Given the description of an element on the screen output the (x, y) to click on. 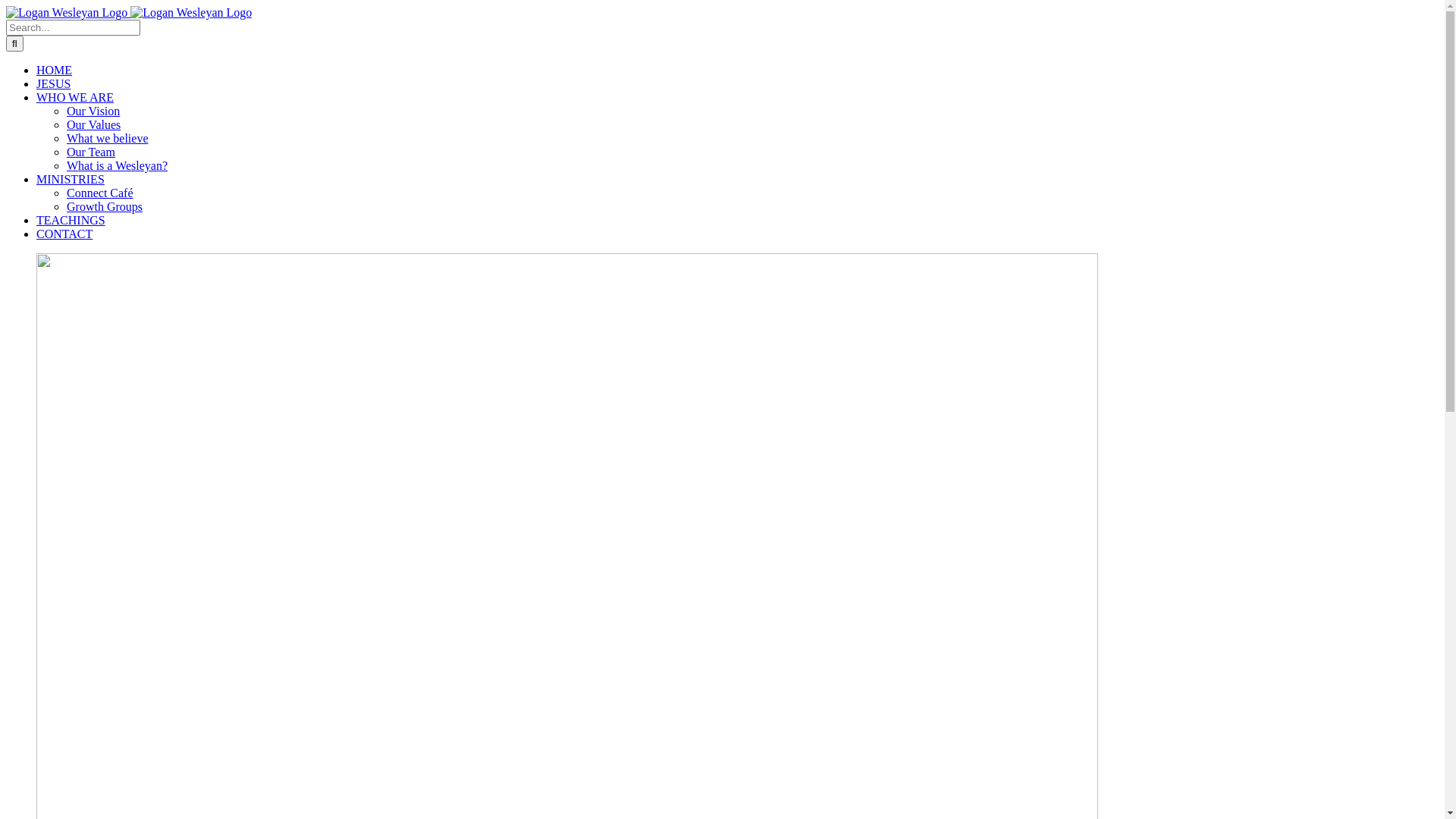
MINISTRIES Element type: text (70, 178)
HOME Element type: text (54, 69)
Skip to content Element type: text (5, 5)
Growth Groups Element type: text (104, 206)
CONTACT Element type: text (64, 233)
What is a Wesleyan? Element type: text (116, 165)
Our Team Element type: text (90, 151)
Our Vision Element type: text (92, 110)
What we believe Element type: text (107, 137)
WHO WE ARE Element type: text (74, 97)
JESUS Element type: text (53, 83)
Our Values Element type: text (93, 124)
TEACHINGS Element type: text (70, 219)
